Given the description of an element on the screen output the (x, y) to click on. 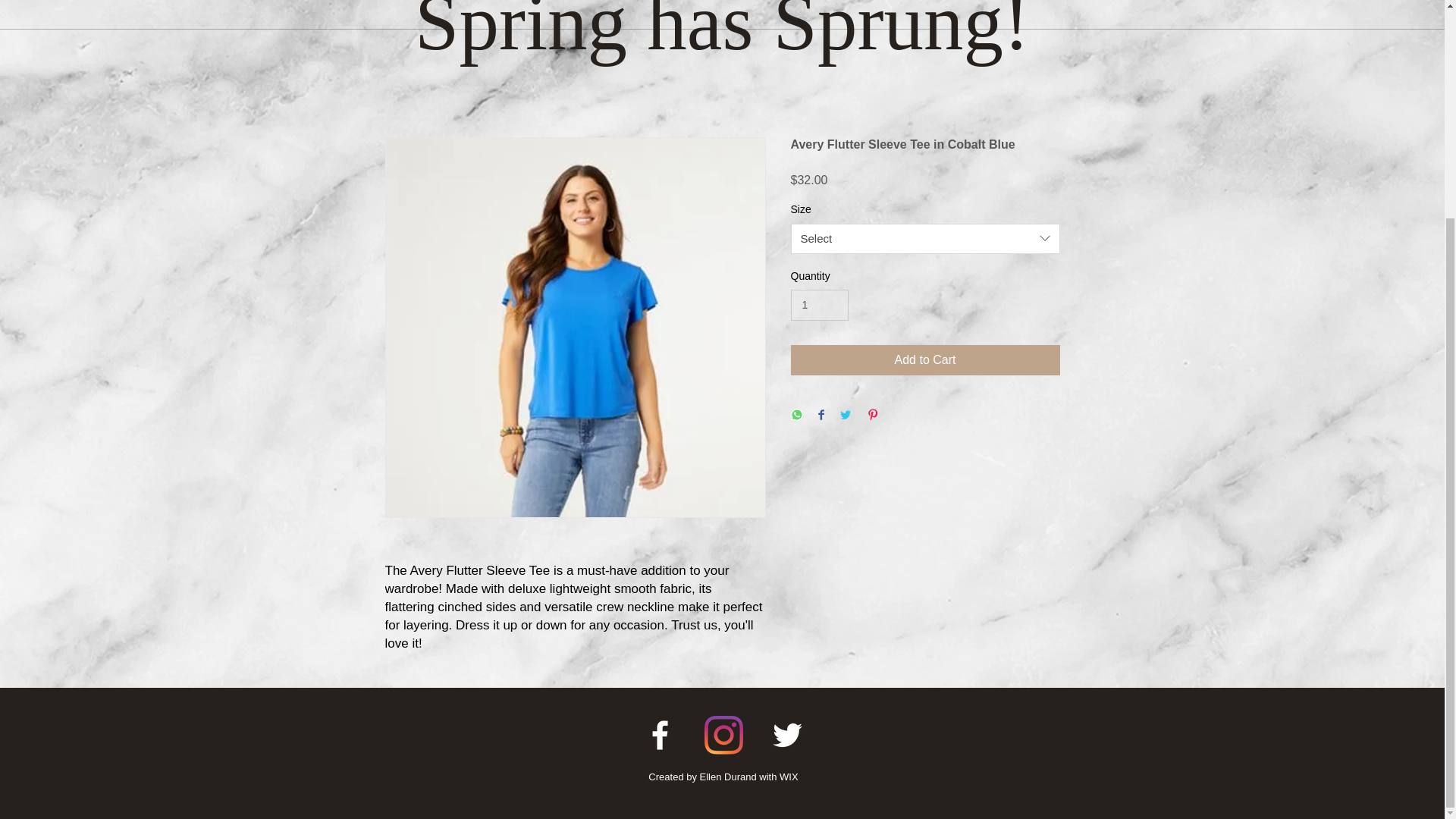
1 (818, 305)
Select (924, 238)
Add to Cart (924, 359)
